Given the description of an element on the screen output the (x, y) to click on. 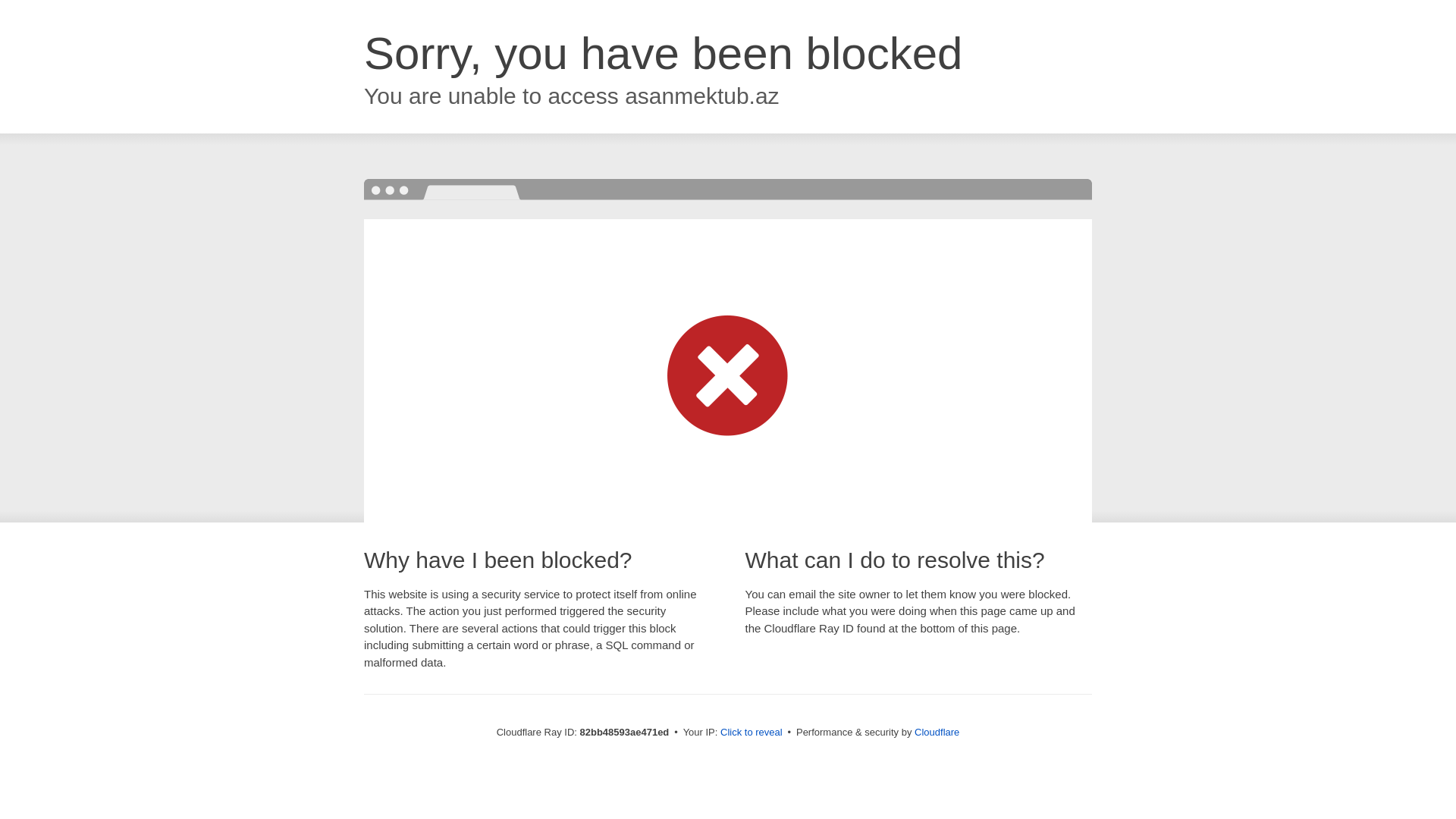
Cloudflare Element type: text (936, 731)
Click to reveal Element type: text (751, 732)
